Given the description of an element on the screen output the (x, y) to click on. 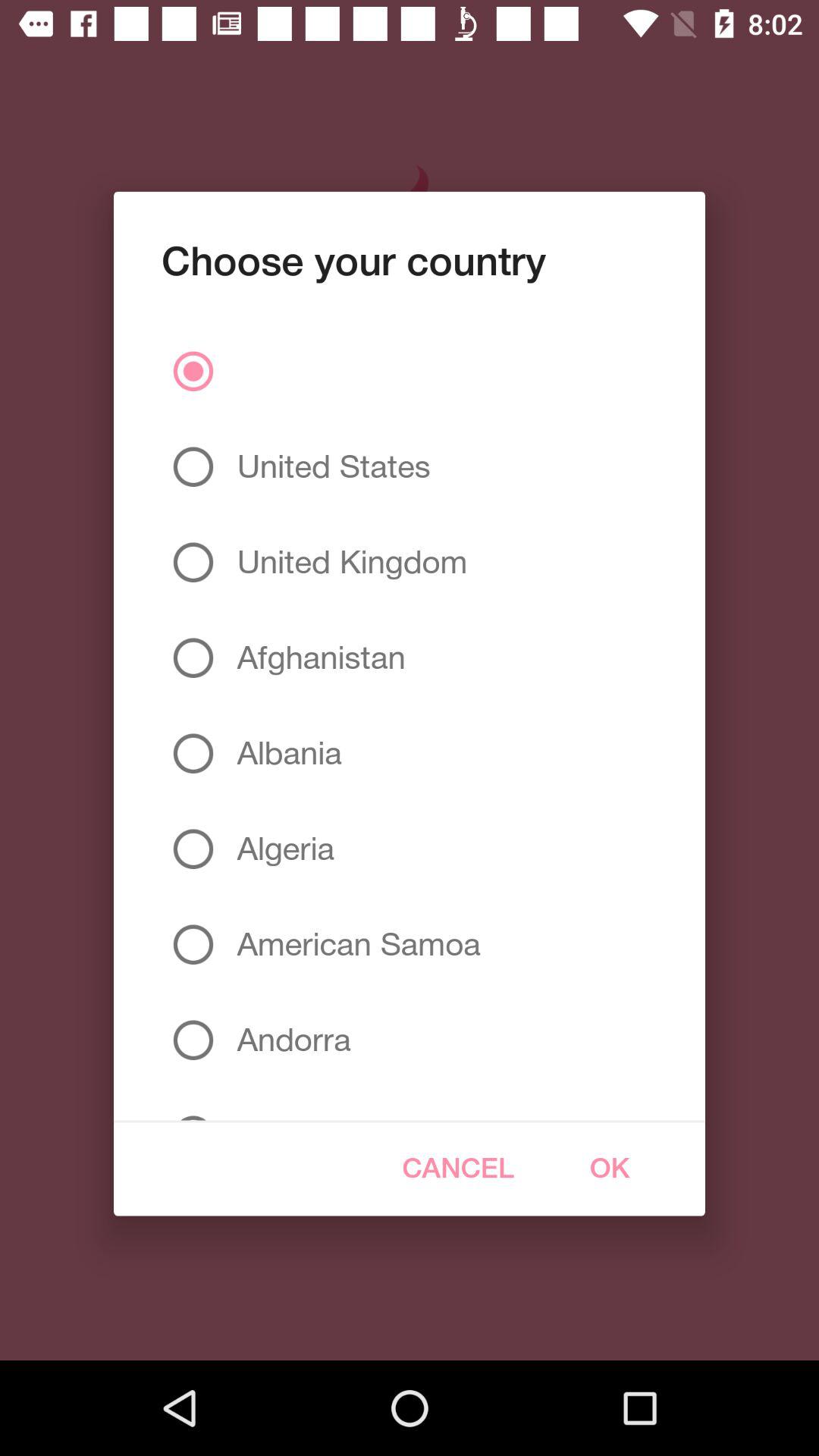
select the icon to the left of the ok item (458, 1167)
